Given the description of an element on the screen output the (x, y) to click on. 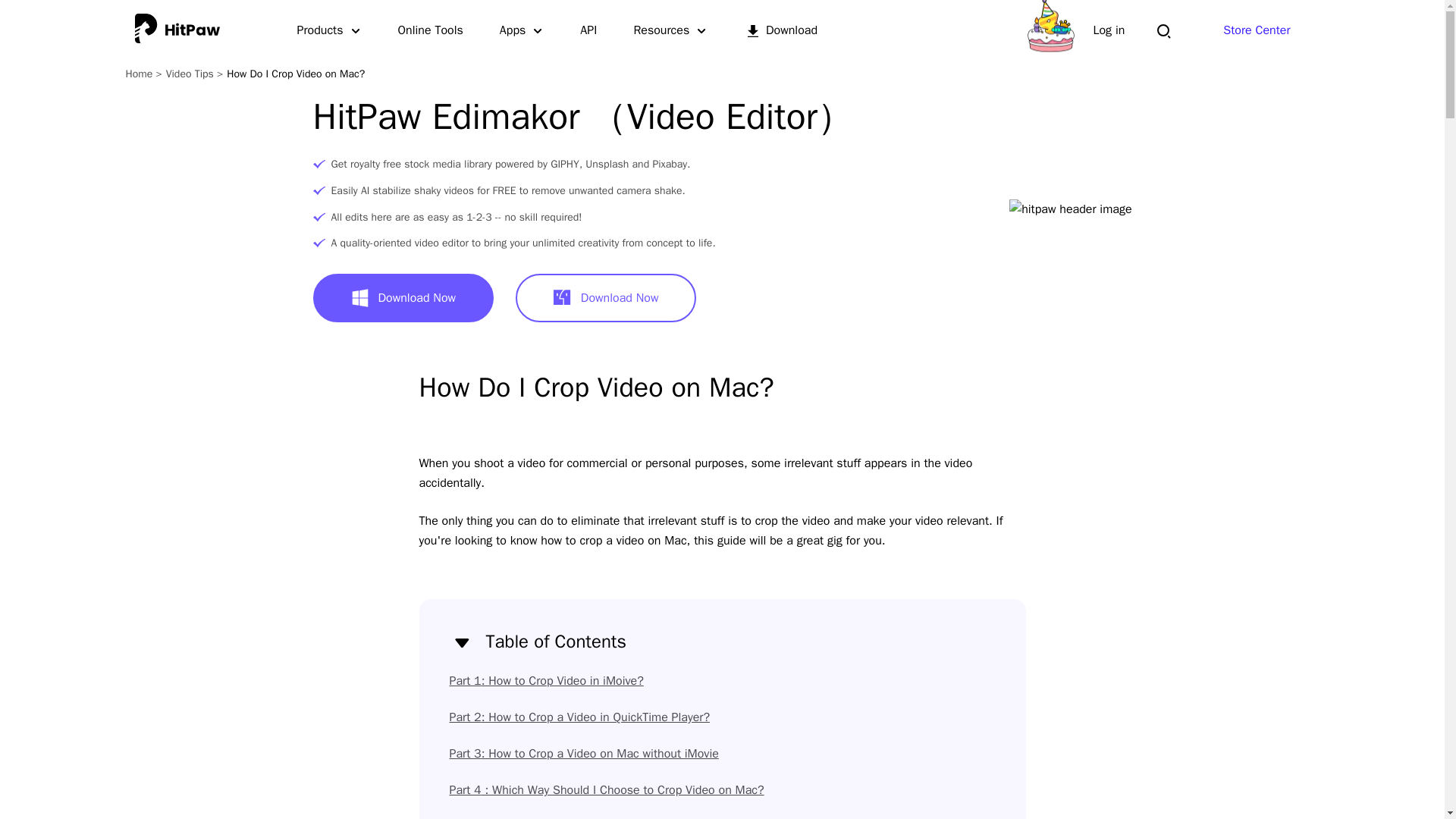
Log in (1108, 30)
Store Center (1256, 30)
Products (329, 30)
